Given the description of an element on the screen output the (x, y) to click on. 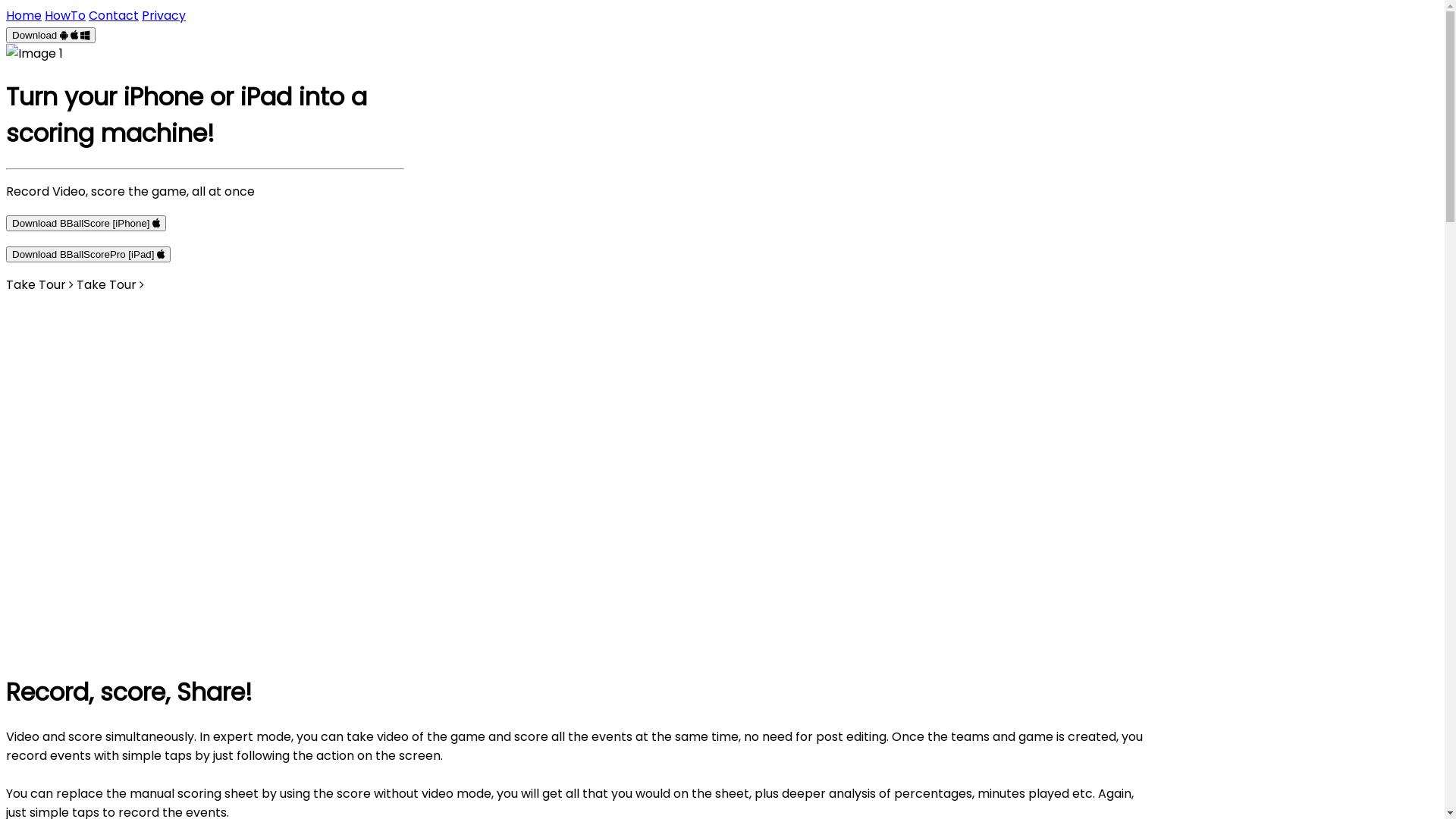
Download BBallScorePro [iPad] Element type: text (88, 254)
Privacy Element type: text (163, 15)
Take Tour Element type: text (110, 284)
Take Tour Element type: text (39, 284)
Download Element type: text (50, 35)
Home Element type: text (23, 15)
Download BBallScore [iPhone] Element type: text (86, 223)
Contact Element type: text (113, 15)
HowTo Element type: text (64, 15)
